Given the description of an element on the screen output the (x, y) to click on. 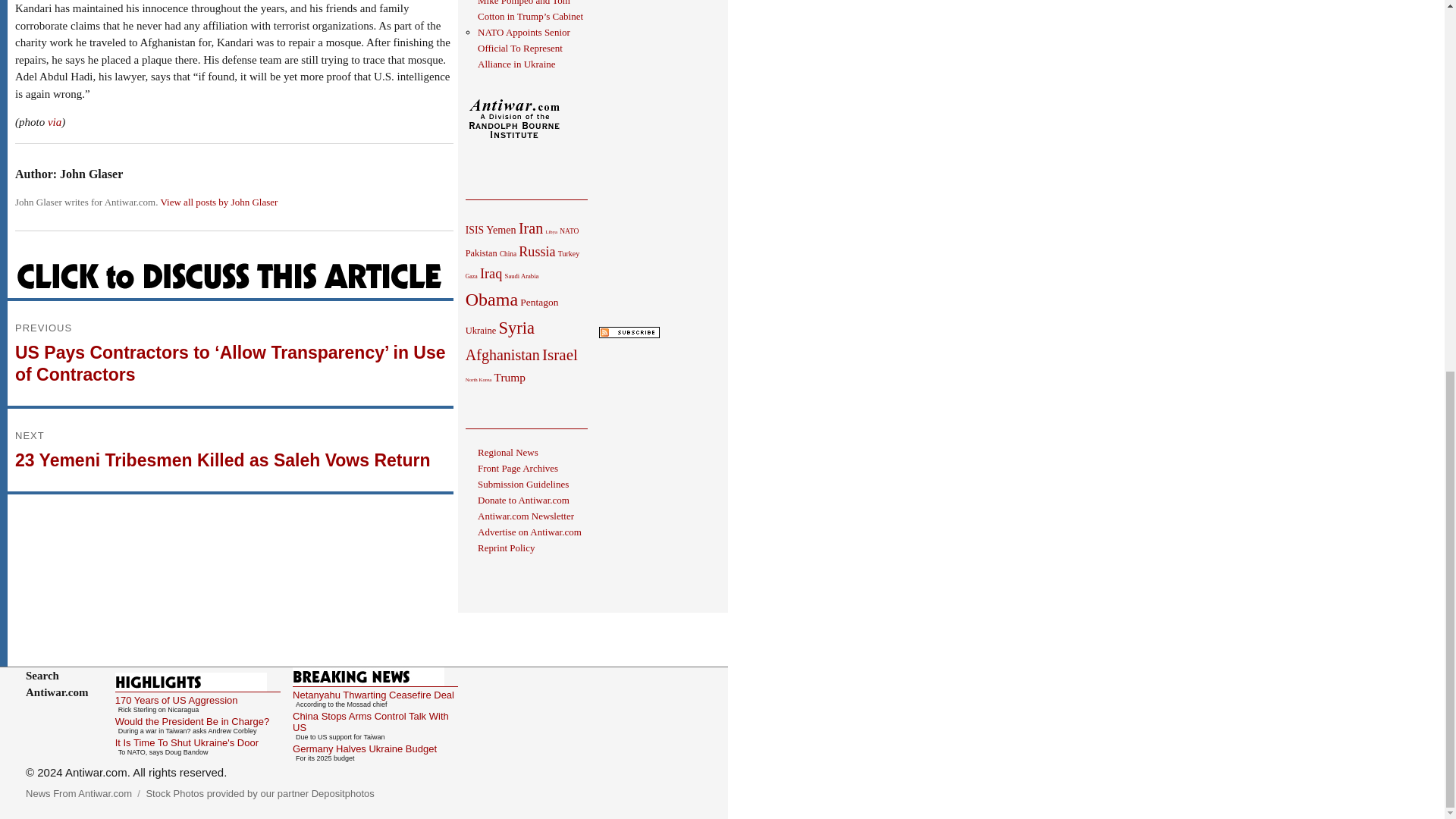
via (53, 121)
